Given the description of an element on the screen output the (x, y) to click on. 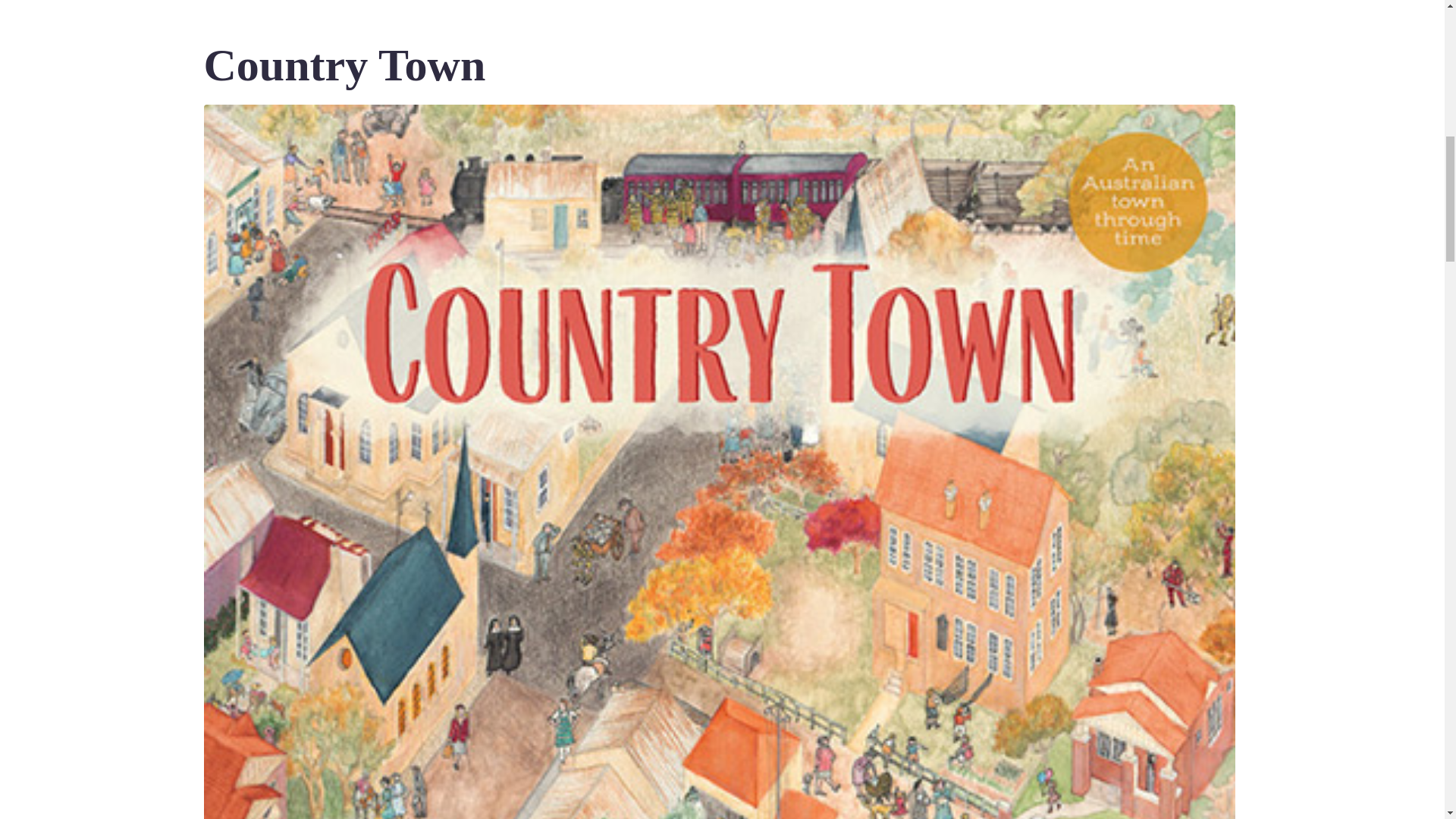
Country Town (718, 554)
Country Town (343, 65)
Country Town (343, 65)
